Given the description of an element on the screen output the (x, y) to click on. 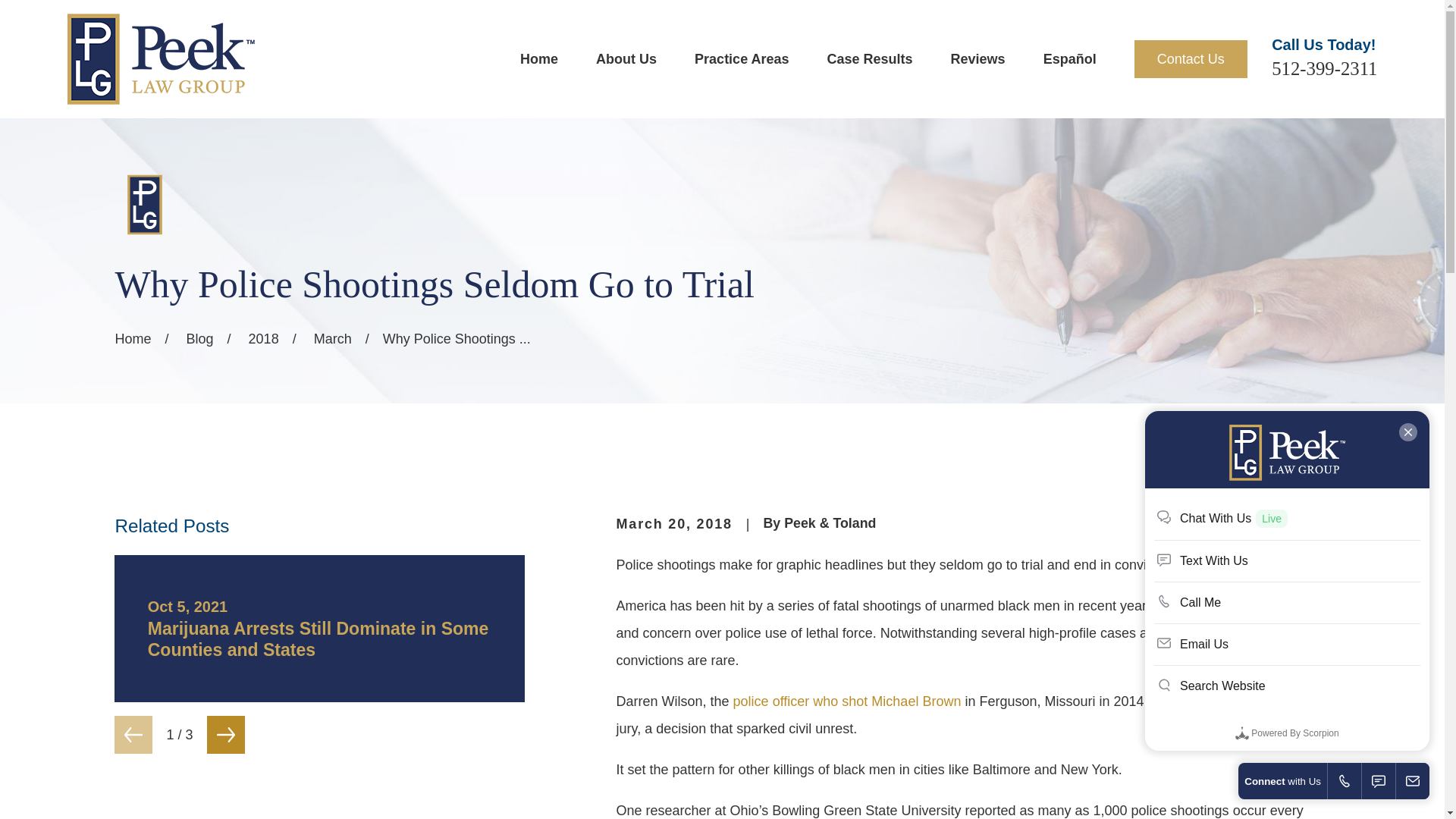
Case Results (869, 59)
View previous item (133, 734)
Go Home (133, 338)
Practice Areas (741, 59)
Home (159, 58)
Reviews (978, 59)
About Us (625, 59)
View next item (225, 734)
